Given the description of an element on the screen output the (x, y) to click on. 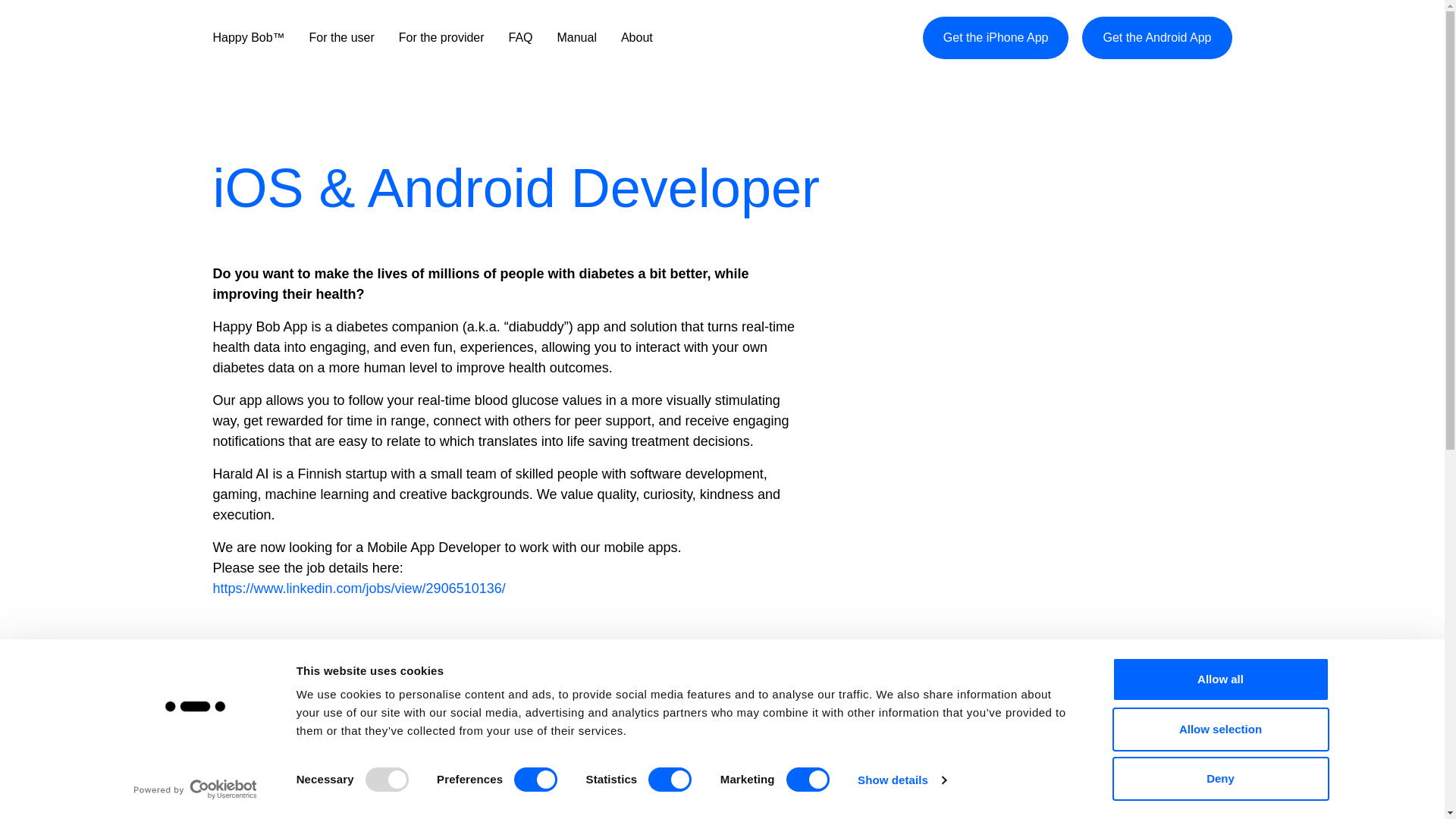
Show details (900, 780)
Deny (1219, 778)
Allow selection (1219, 728)
For the provider (441, 37)
FAQ (520, 37)
Allow all (1219, 679)
Manual (576, 37)
Get in touch now (1002, 794)
For the user (342, 37)
